Given the description of an element on the screen output the (x, y) to click on. 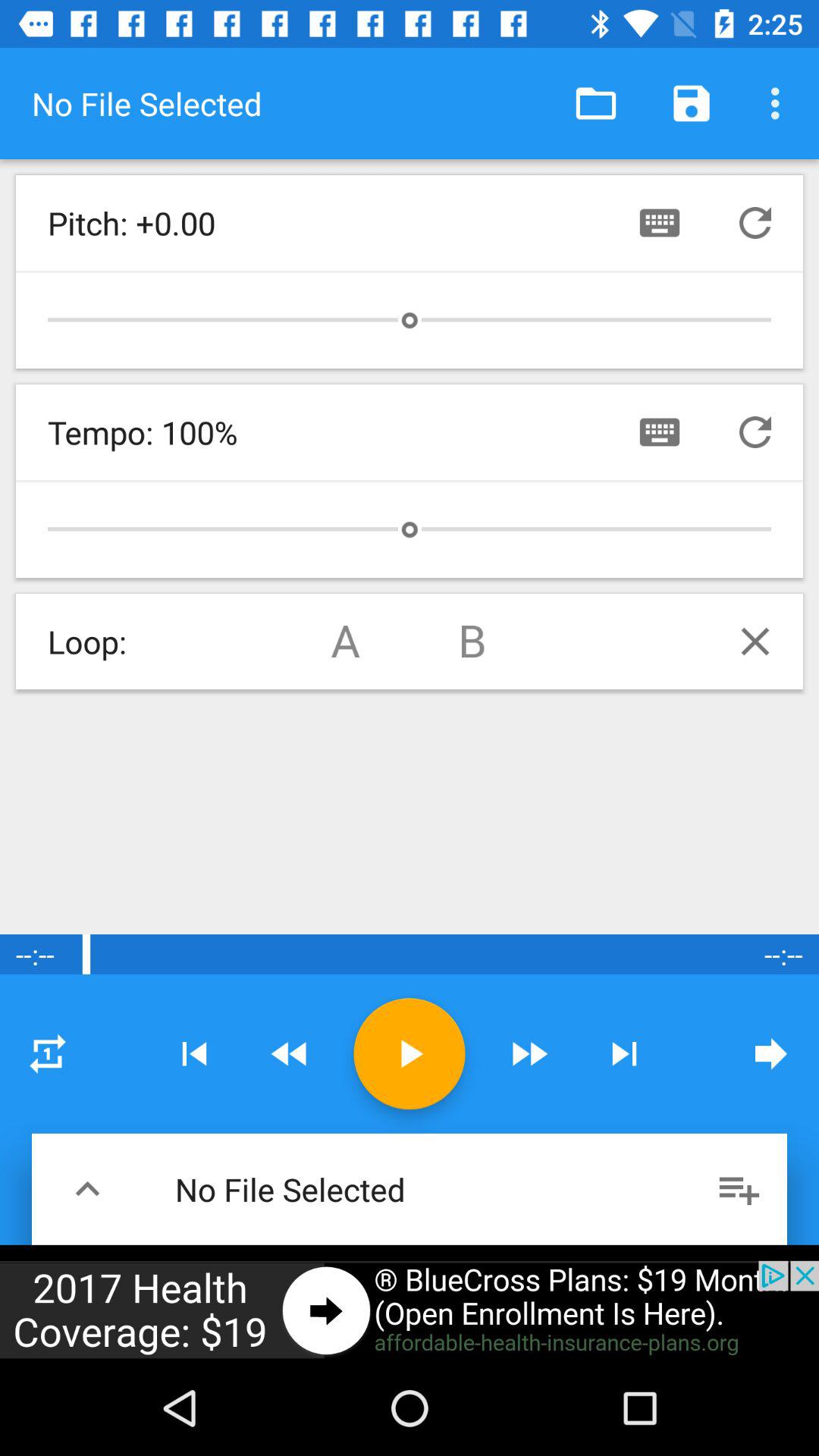
settings (47, 1053)
